Given the description of an element on the screen output the (x, y) to click on. 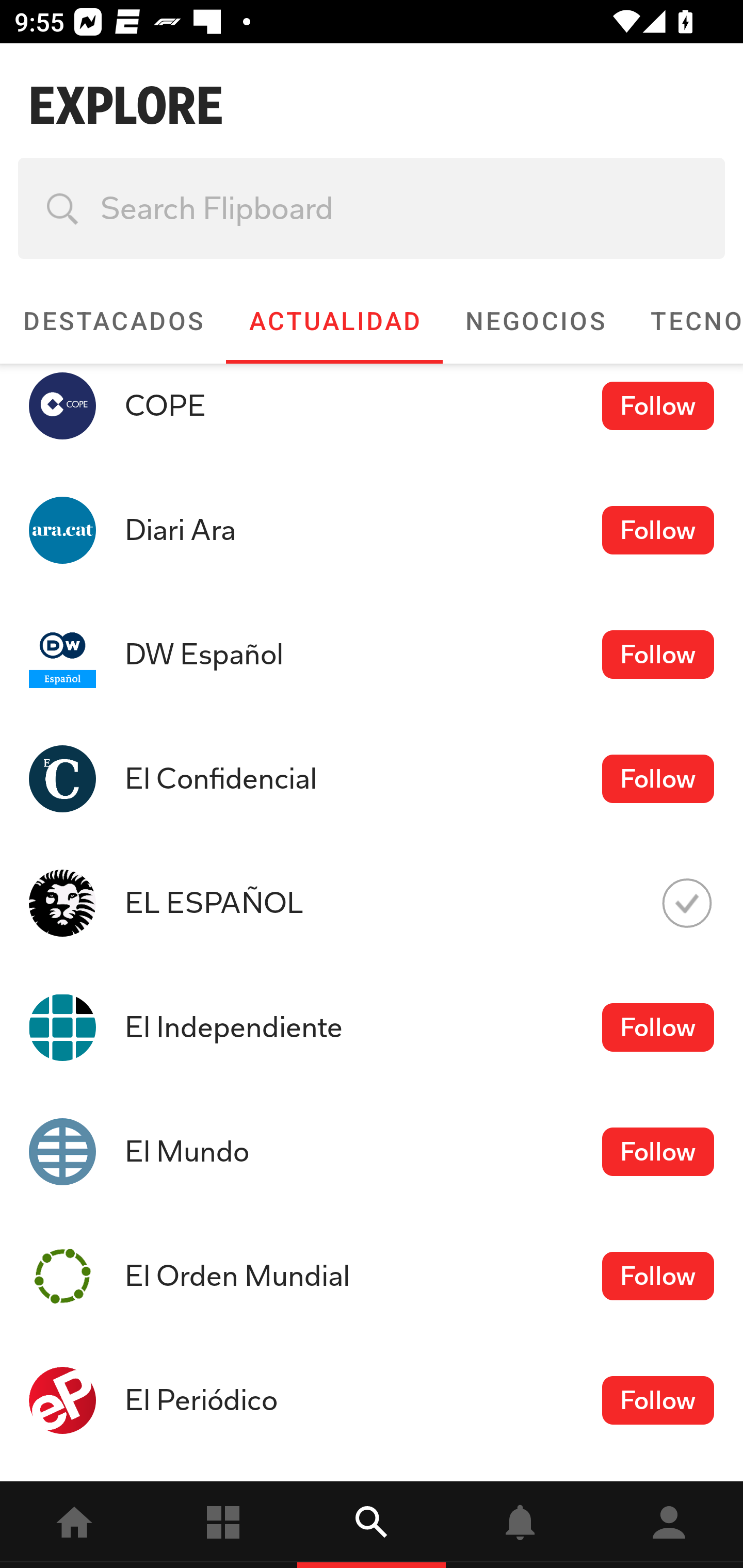
Search Flipboard (371, 208)
Destacados DESTACADOS (112, 320)
Negocios NEGOCIOS (534, 320)
Tecnología & Ciencia TECNOLOGÍA & CIENCIA (685, 320)
COPE Follow (371, 415)
Follow (657, 405)
Diari Ara Follow (371, 529)
Follow (657, 530)
DW Español Follow (371, 654)
Follow (657, 654)
El Confidencial Follow (371, 779)
Follow (657, 778)
EL ESPAÑOL Following (371, 902)
Following (686, 903)
El Independiente Follow (371, 1026)
Follow (657, 1027)
El Mundo Follow (371, 1151)
Follow (657, 1151)
El Orden Mundial Follow (371, 1276)
Follow (657, 1275)
El Periódico Follow (371, 1399)
Follow (657, 1400)
home (74, 1524)
Following (222, 1524)
explore (371, 1524)
Notifications (519, 1524)
Profile (668, 1524)
